Given the description of an element on the screen output the (x, y) to click on. 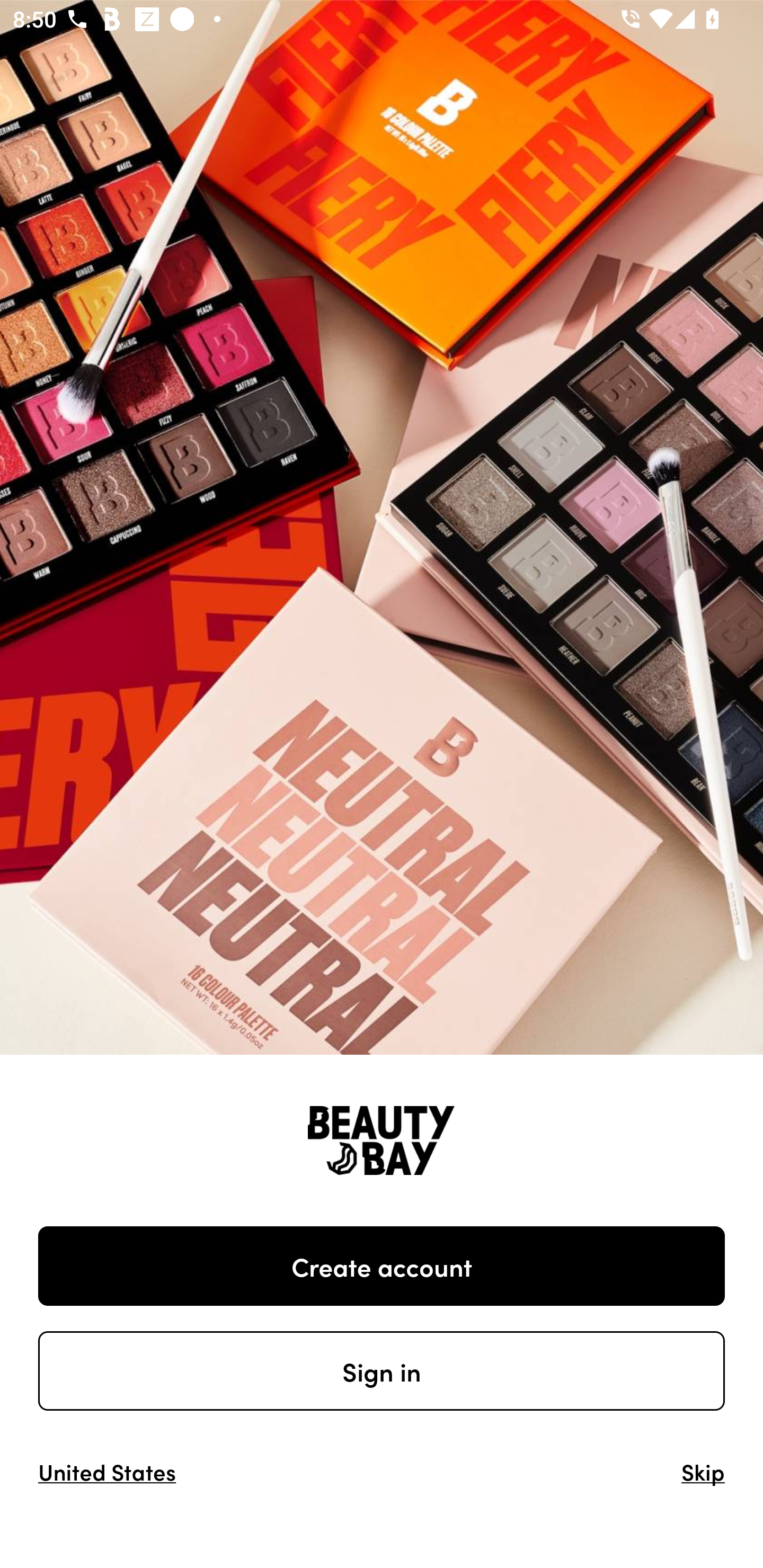
Create account (381, 1266)
Sign in (381, 1371)
United States (107, 1470)
Skip (702, 1470)
